Given the description of an element on the screen output the (x, y) to click on. 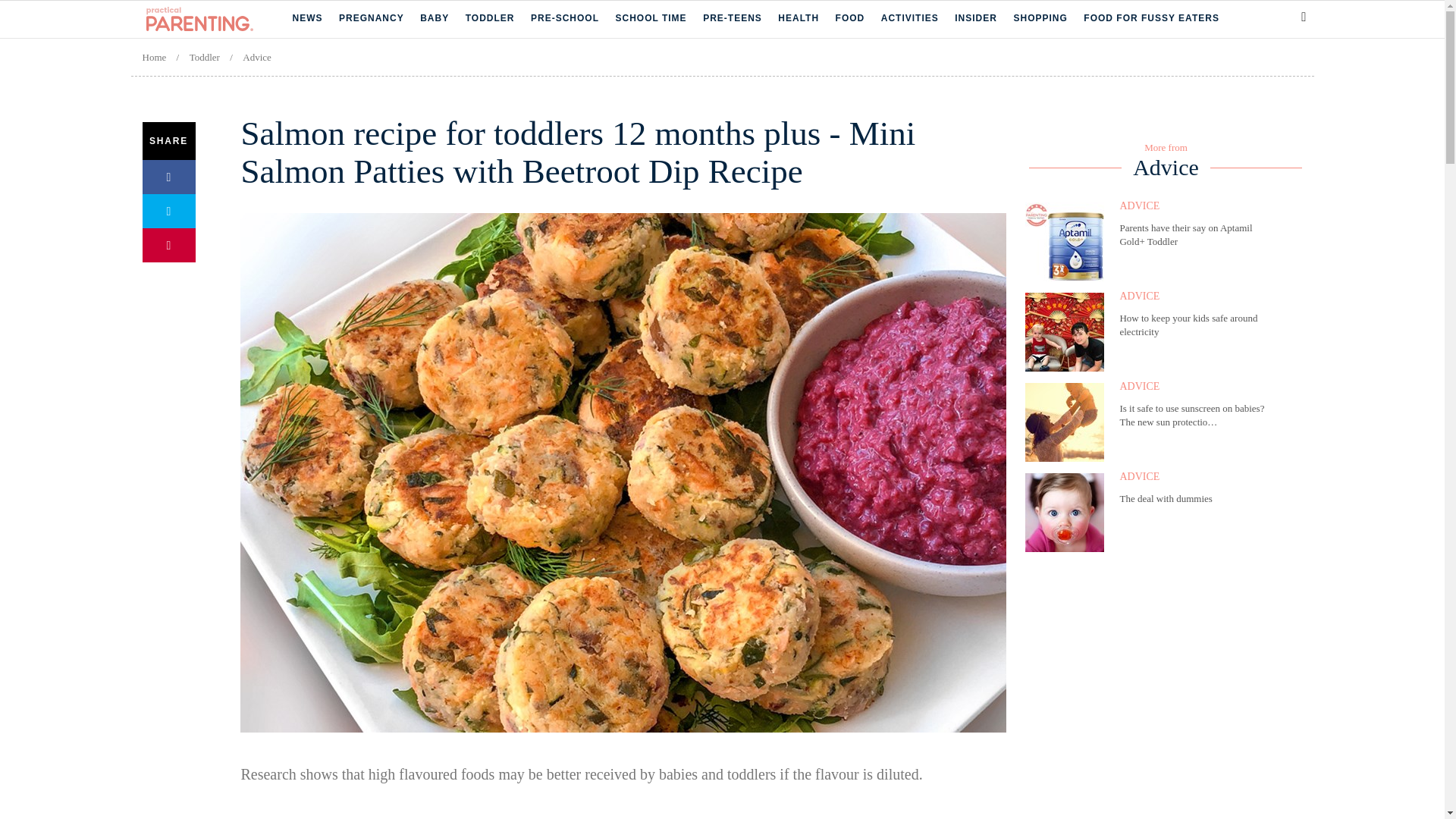
Home (218, 18)
NEWS (307, 18)
TODDLER (490, 18)
PREGNANCY (371, 18)
BABY (434, 18)
